Given the description of an element on the screen output the (x, y) to click on. 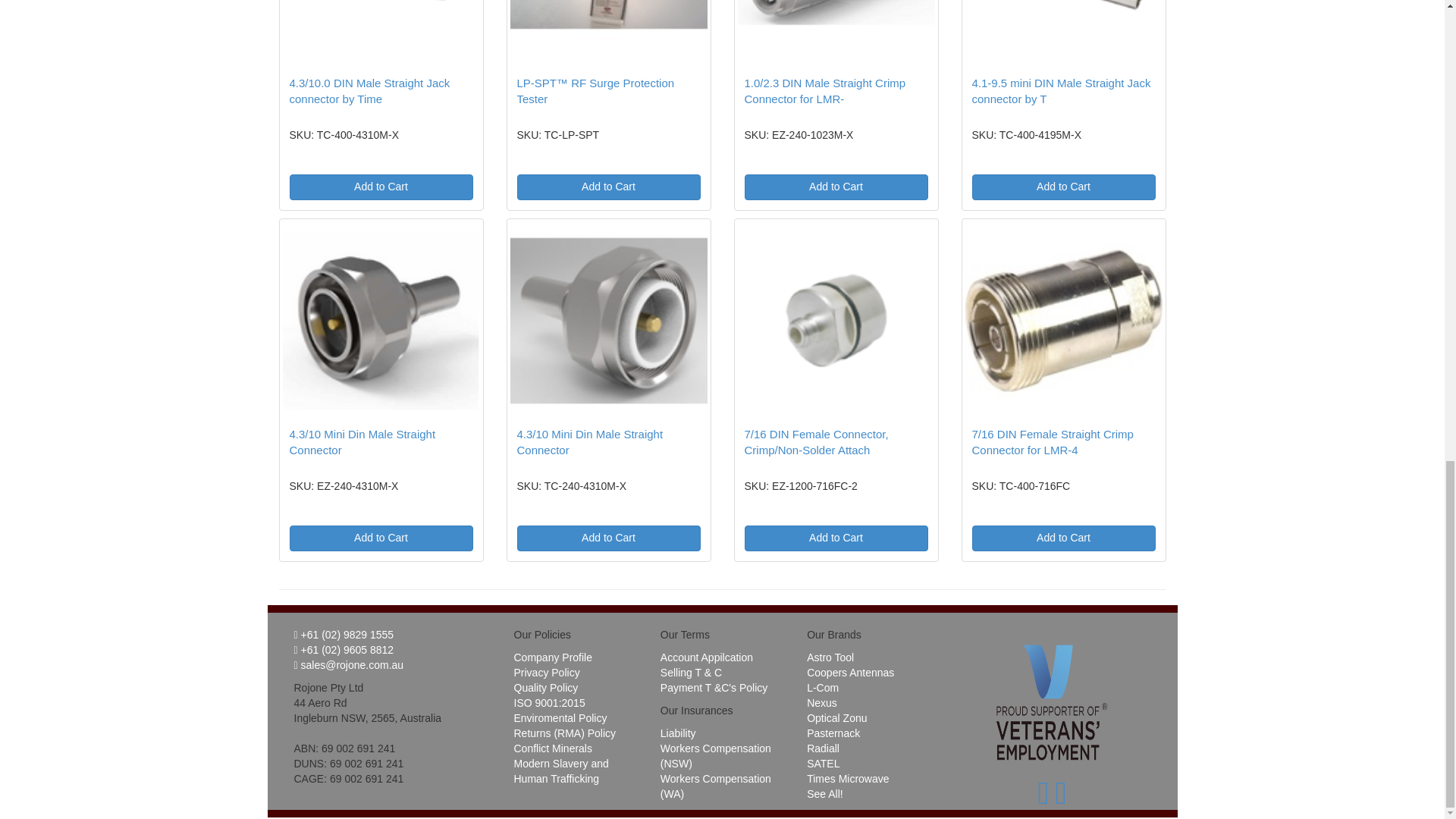
Add to Cart (608, 186)
Add to Cart (381, 186)
Add to Cart (836, 186)
Add to Cart (608, 538)
Add to Cart (1064, 186)
Add to Cart (381, 538)
Add to Cart (836, 538)
